Given the description of an element on the screen output the (x, y) to click on. 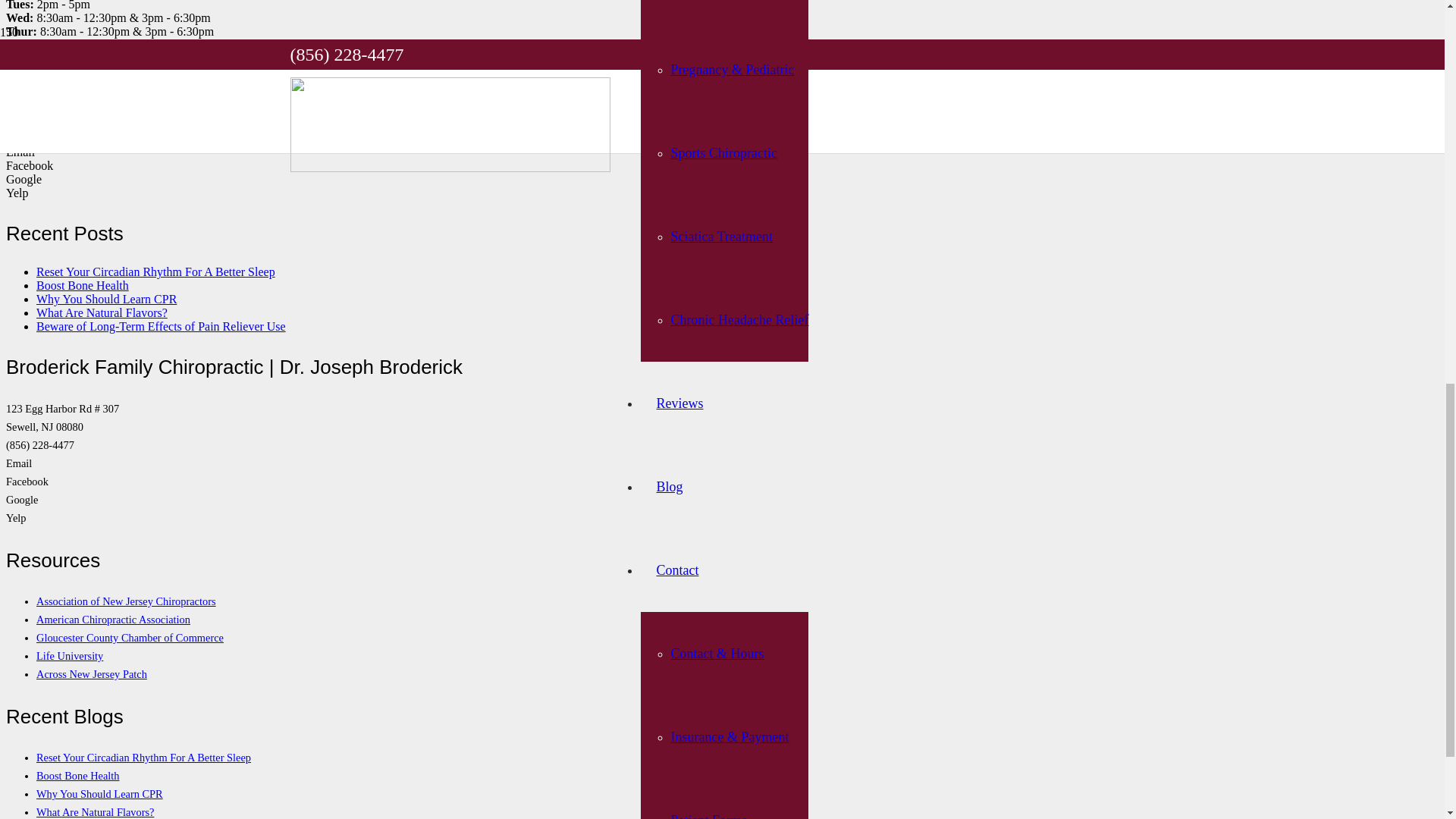
Why You Should Learn CPR (106, 298)
What Are Natural Flavors? (101, 312)
Patient Forms (707, 4)
Beware of Long-Term Effects of Pain Reliever Use (160, 326)
Boost Bone Health (82, 285)
Reset Your Circadian Rhythm For A Better Sleep (155, 271)
